Given the description of an element on the screen output the (x, y) to click on. 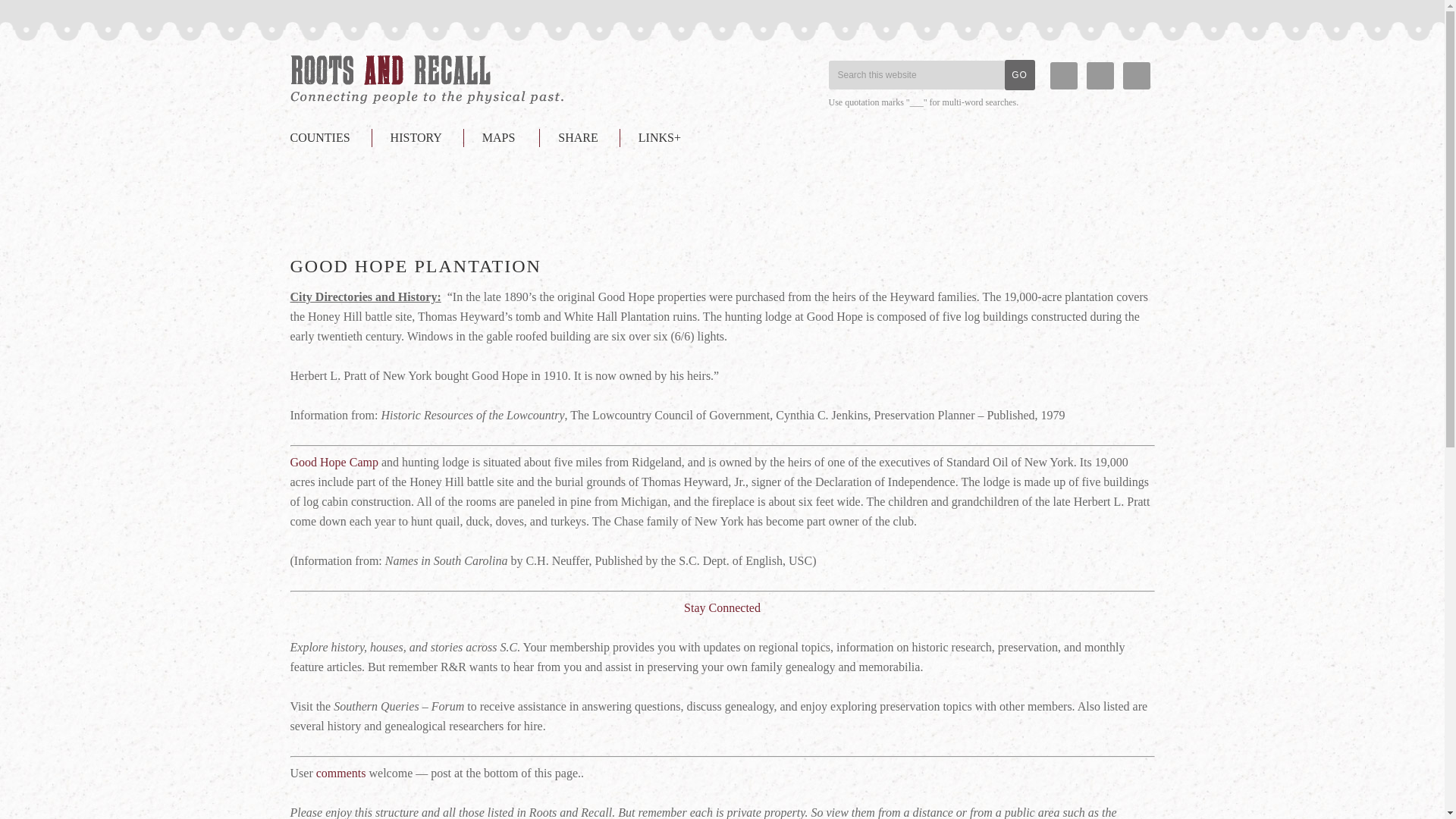
Go (1018, 74)
COUNTIES (328, 137)
Jasper County (425, 80)
JASPER COUNTY (425, 80)
Go (1018, 74)
Go (1018, 74)
